Given the description of an element on the screen output the (x, y) to click on. 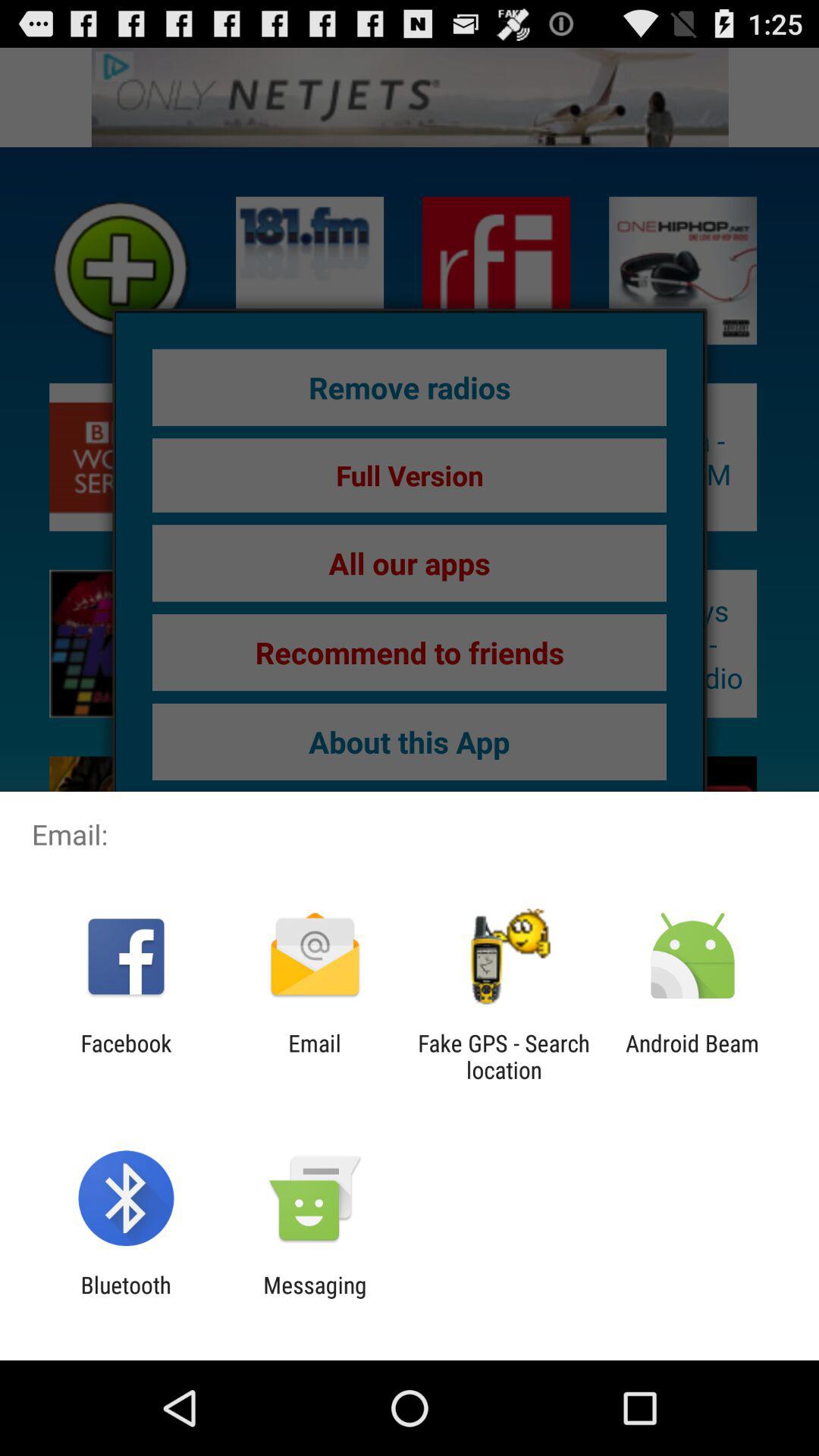
press item next to the bluetooth icon (314, 1298)
